Given the description of an element on the screen output the (x, y) to click on. 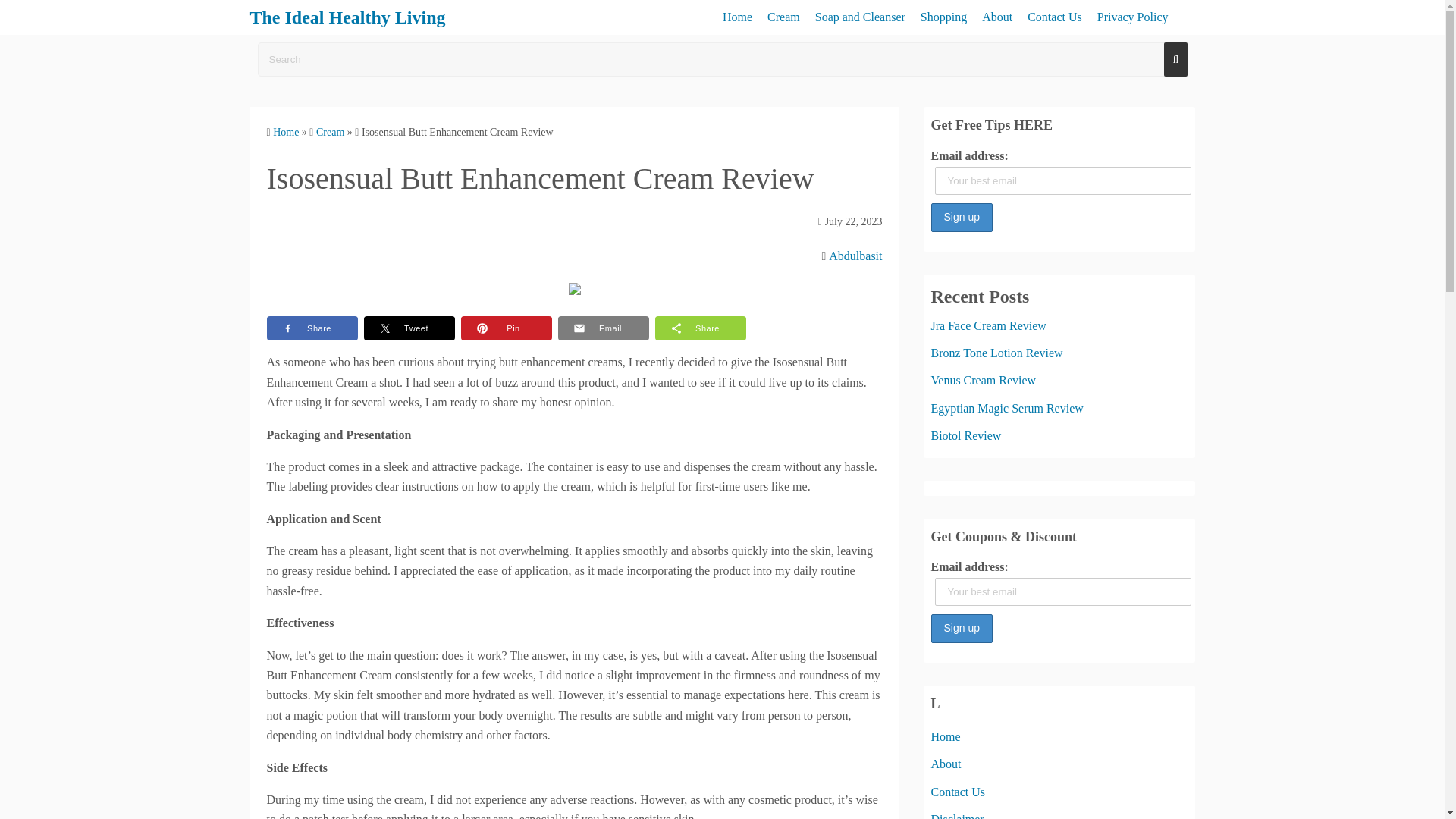
Sign up (961, 217)
The Ideal Healthy Living (347, 17)
Egyptian Magic Serum Review (1007, 408)
Sign up (961, 628)
Sign up (961, 628)
Privacy Policy (1133, 17)
Biotol Review (966, 435)
Contact Us (958, 791)
Abdulbasit (855, 255)
Cream (329, 132)
Cream (783, 17)
Sign up (961, 217)
Shopping (943, 17)
Contact Us (1054, 17)
Jra Face Cream Review (988, 325)
